Given the description of an element on the screen output the (x, y) to click on. 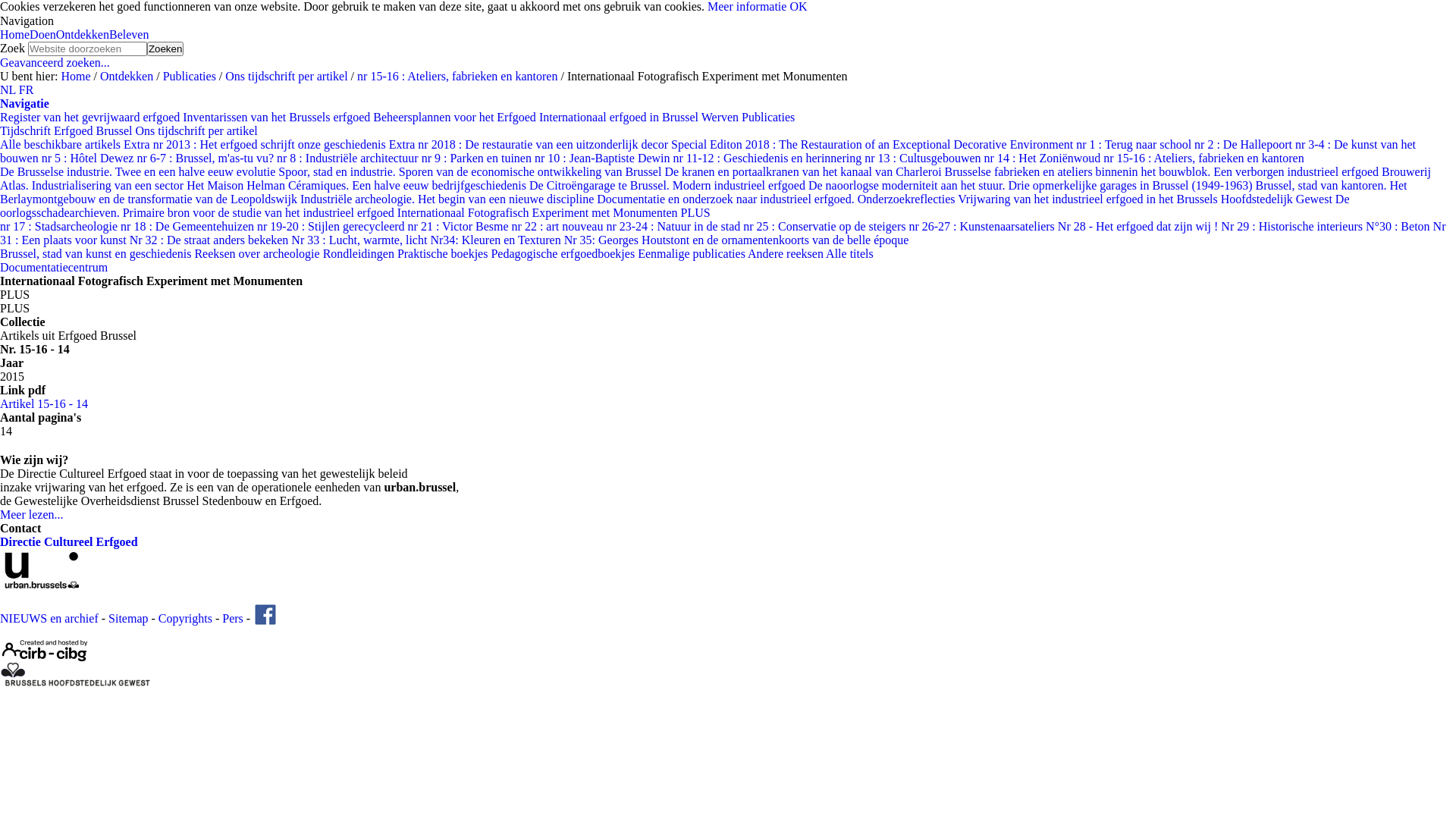
Extra nr 2013 : Het erfgoed schrijft onze geschiedenis Element type: text (256, 144)
FR Element type: text (26, 89)
nr 26-27 : Kunstenaarsateliers Element type: text (982, 225)
nr 22 : art nouveau Element type: text (558, 225)
Artikel 15-16 - 14 Element type: text (43, 403)
Nr 28 - Het erfgoed dat zijn wij ! Element type: text (1138, 225)
nr 15-16 : Ateliers, fabrieken en kantoren Element type: text (457, 75)
Rondleidingen Element type: text (360, 253)
NIEUWS en archief Element type: text (49, 617)
PLUS Element type: text (695, 212)
urban logo Element type: hover (75, 569)
Nr34: Kleuren en Texturen Element type: text (496, 239)
nr 9 : Parken en tuinen Element type: text (477, 157)
nr 3-4 : De kunst van het bouwen Element type: text (707, 151)
De Brusselse industrie. Twee en een halve eeuw evolutie Element type: text (139, 171)
Tijdschrift Erfgoed Brussel Element type: text (67, 130)
nr 1 : Terug naar school Element type: text (1135, 144)
Eenmalige publicaties Element type: text (692, 253)
Ons tijdschrift per artikel Element type: text (196, 130)
Werven Element type: text (721, 116)
Created and hosted by CIRB-CIBG Element type: hover (45, 650)
nr 13 : Cultusgebouwen Element type: text (923, 157)
nr 19-20 : Stijlen gerecycleerd Element type: text (332, 225)
Ons tijdschrift per artikel Element type: text (286, 75)
Nr 29 : Historische interieurs Element type: text (1292, 225)
nr 18 : De Gemeentehuizen Element type: text (188, 225)
Internationaal erfgoed in Brussel Element type: text (620, 116)
Meer lezen... Element type: text (31, 514)
Doen Element type: text (42, 34)
Nr 33 : Lucht, warmte, licht Element type: text (360, 239)
Navigation Element type: text (26, 20)
Alle beschikbare artikels Element type: text (61, 144)
Brussels Hoofdstedelijk Gewest Element type: hover (75, 674)
nr 23-24 : Natuur in de stad Element type: text (674, 225)
Nr 32 : De straat anders bekeken Element type: text (210, 239)
OK Element type: text (797, 6)
Sitemap Element type: text (127, 617)
Brussel, stad van kunst en geschiedenis Element type: text (97, 253)
nr 6-7 : Brussel, m'as-tu vu? Element type: text (206, 157)
Publicaties Element type: text (767, 116)
nr 15-16 : Ateliers, fabrieken en kantoren Element type: text (1203, 157)
Andere reeksen Element type: text (786, 253)
nr 11-12 : Geschiedenis en herinnering Element type: text (769, 157)
Beleven Element type: text (128, 34)
nr 21 : Victor Besme Element type: text (459, 225)
Navigatie Element type: text (24, 103)
Inventarissen van het Brussels erfgoed Element type: text (277, 116)
Extra nr 2018 : De restauratie van een uitzonderlijk decor Element type: text (530, 144)
Alle titels Element type: text (849, 253)
Home Element type: text (14, 34)
Nr 31 : Een plaats voor kunst Element type: text (722, 232)
Pedagogische erfgoedboekjes Element type: text (563, 253)
Ontdekken Element type: text (82, 34)
NL Element type: text (9, 89)
Pers Element type: text (232, 617)
Meer informatie Element type: text (746, 6)
FB Element type: hover (265, 614)
Brouwerij Atlas. Industrialisering van een sector Element type: text (715, 178)
De kranen en portaalkranen van het kanaal van Charleroi Element type: text (804, 171)
nr 25 : Conservatie op de steigers Element type: text (825, 225)
Beheersplannen voor het Erfgoed Element type: text (456, 116)
Website doorzoeken Element type: hover (87, 48)
Praktische boekjes Element type: text (444, 253)
Home Element type: text (75, 75)
Ontdekken Element type: text (126, 75)
nr 17 : Stadsarcheologie Element type: text (60, 225)
Register van het gevrijwaard erfgoed Element type: text (91, 116)
nr 2 : De Hallepoort Element type: text (1244, 144)
Publicaties Element type: text (189, 75)
Documentatiecentrum Element type: text (53, 266)
Zoeken Element type: text (165, 48)
Directie Cultureel Erfgoed Element type: text (69, 541)
nr 10 : Jean-Baptiste Dewin Element type: text (603, 157)
Copyrights Element type: text (185, 617)
Geavanceerd zoeken... Element type: text (54, 62)
Reeksen over archeologie Element type: text (258, 253)
Internationaal Fotografisch Experiment met Monumenten Element type: text (538, 212)
